Given the description of an element on the screen output the (x, y) to click on. 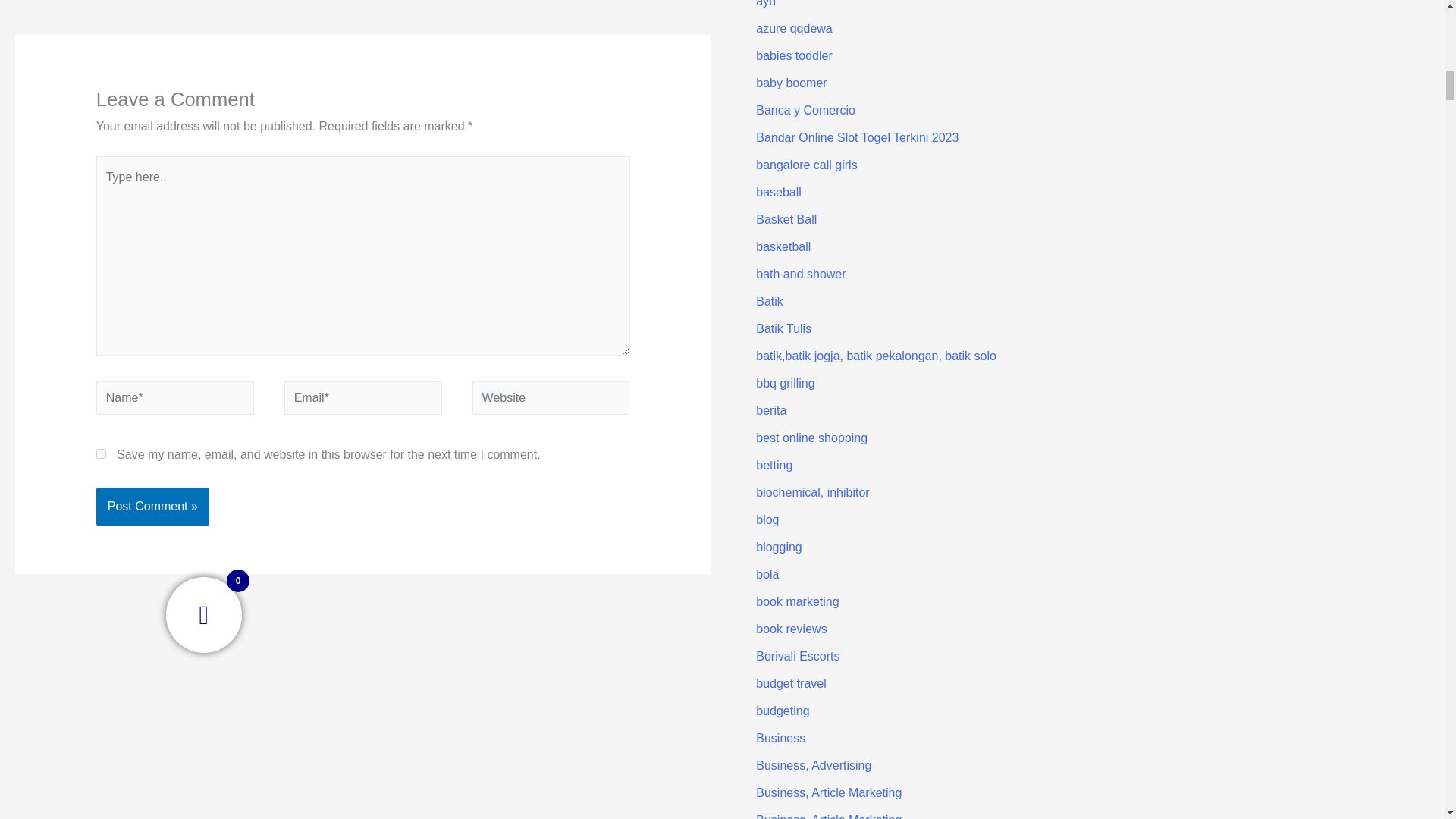
yes (101, 453)
